Given the description of an element on the screen output the (x, y) to click on. 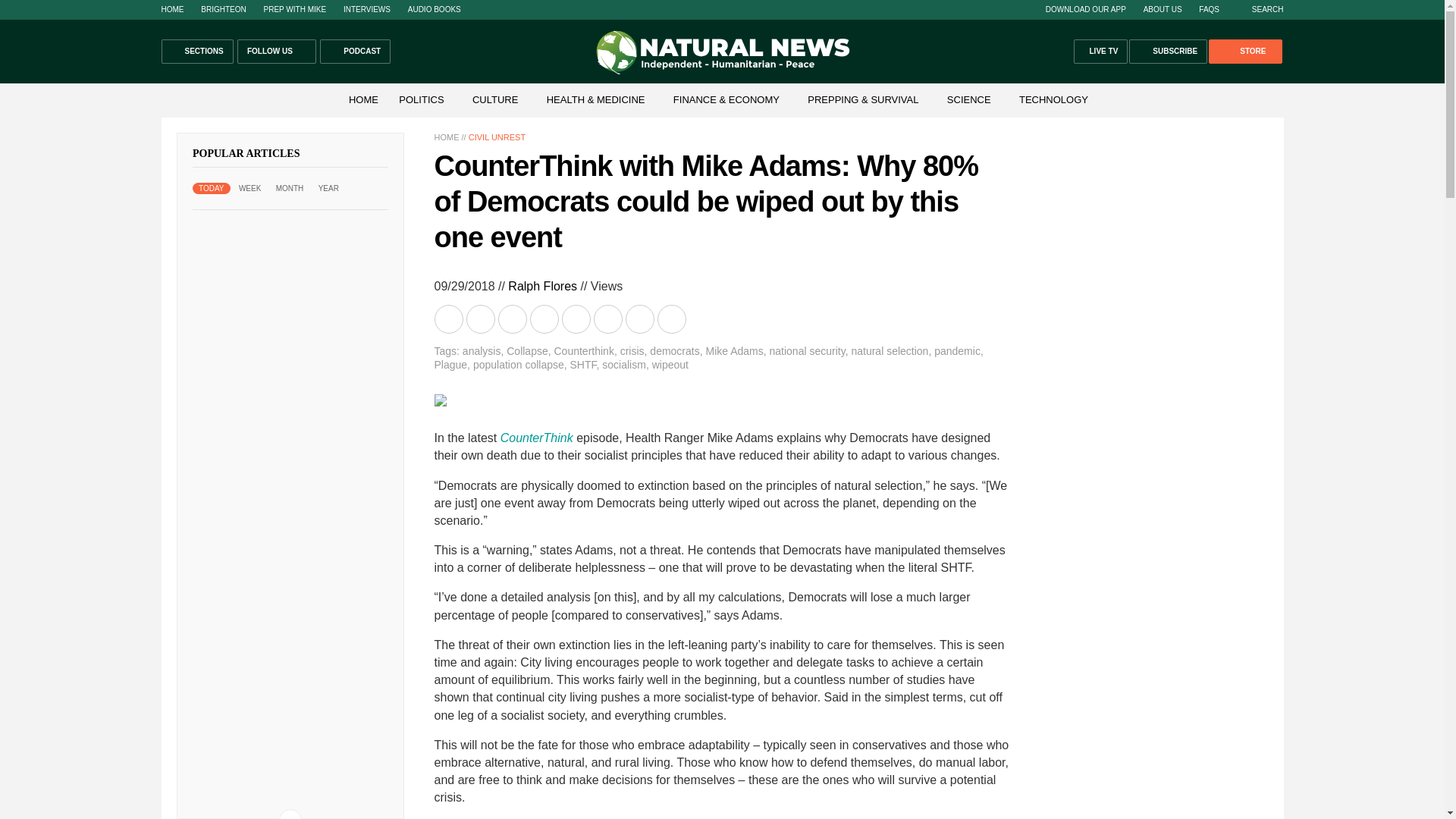
AUDIO BOOKS (434, 8)
Share on Facebook (481, 318)
More Share Options (672, 318)
DOWNLOAD OUR APP (1085, 8)
SCIENCE (968, 99)
Share on Truth.Social (608, 318)
PODCAST (355, 51)
HOME (363, 99)
SEARCH (1260, 8)
Scroll Down (290, 814)
SUBSCRIBE (1168, 51)
Share on Brighteon.Social (449, 318)
LIVE TV (1101, 51)
TECHNOLOGY (1053, 99)
POLITICS (421, 99)
